Given the description of an element on the screen output the (x, y) to click on. 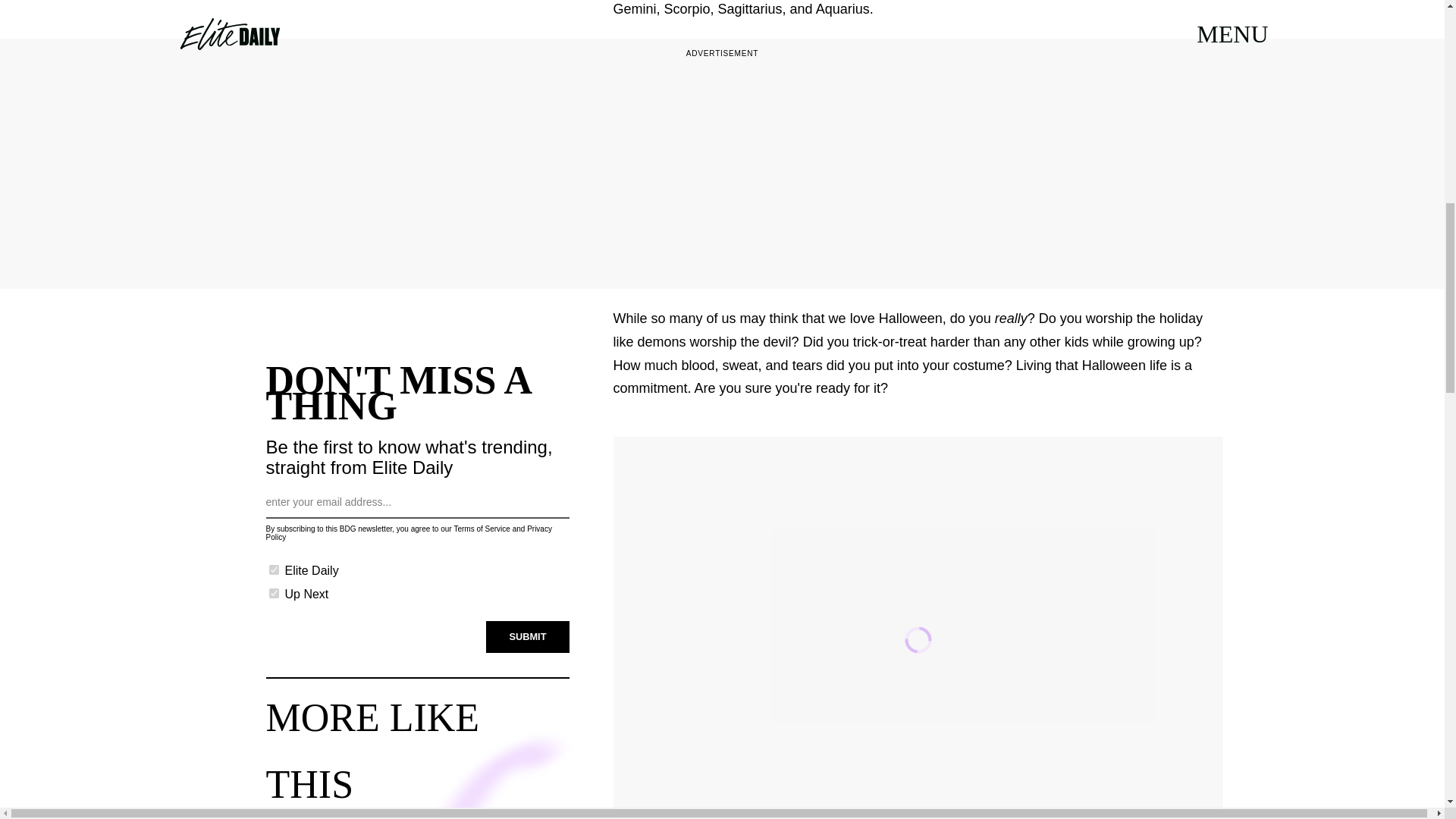
Privacy Policy (407, 532)
Terms of Service (480, 528)
SUBMIT (527, 635)
